Given the description of an element on the screen output the (x, y) to click on. 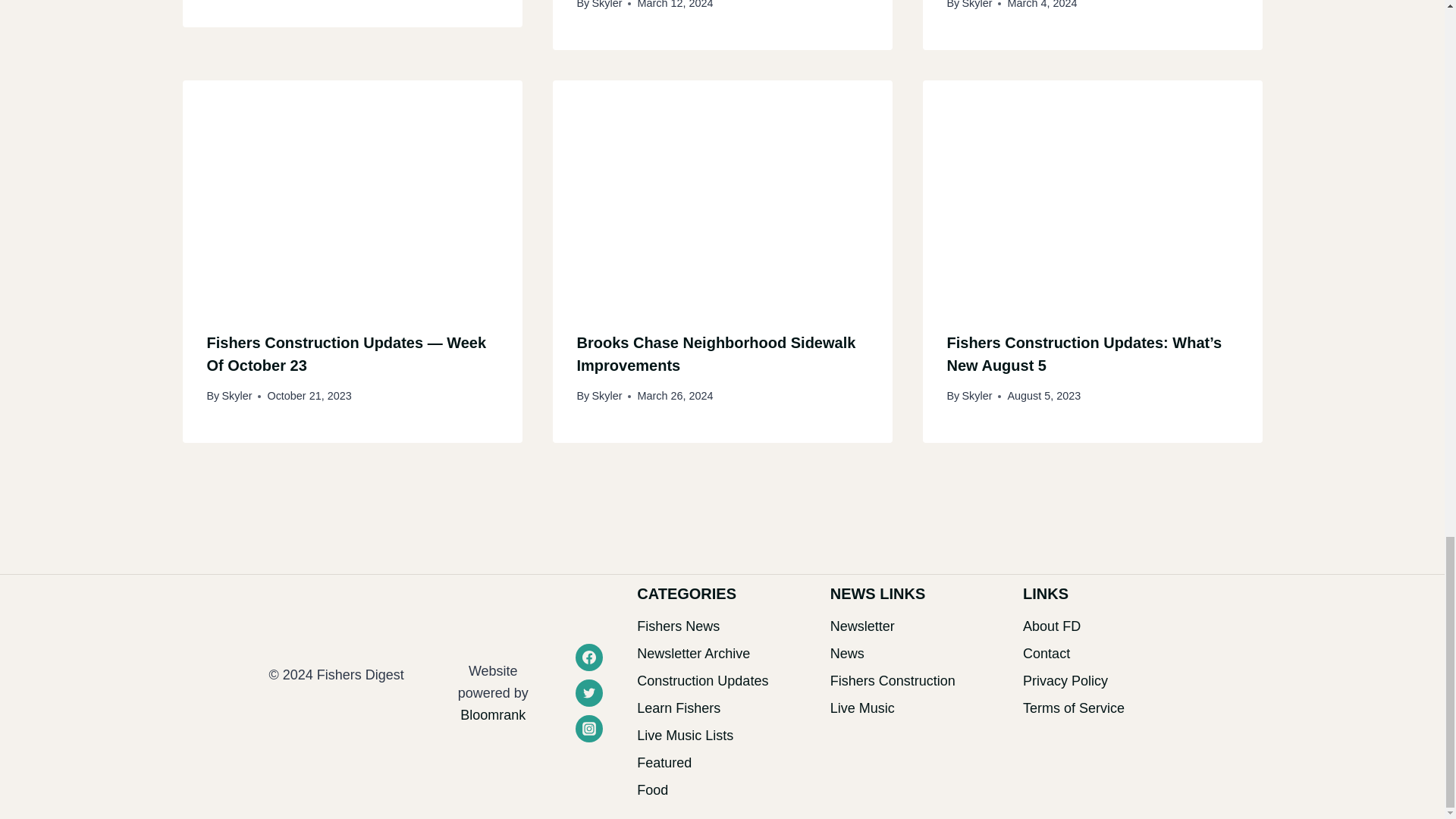
Skyler (975, 4)
Skyler (236, 395)
Brooks Chase Neighborhood Sidewalk Improvements (716, 353)
Skyler (606, 4)
Skyler (606, 395)
